Given the description of an element on the screen output the (x, y) to click on. 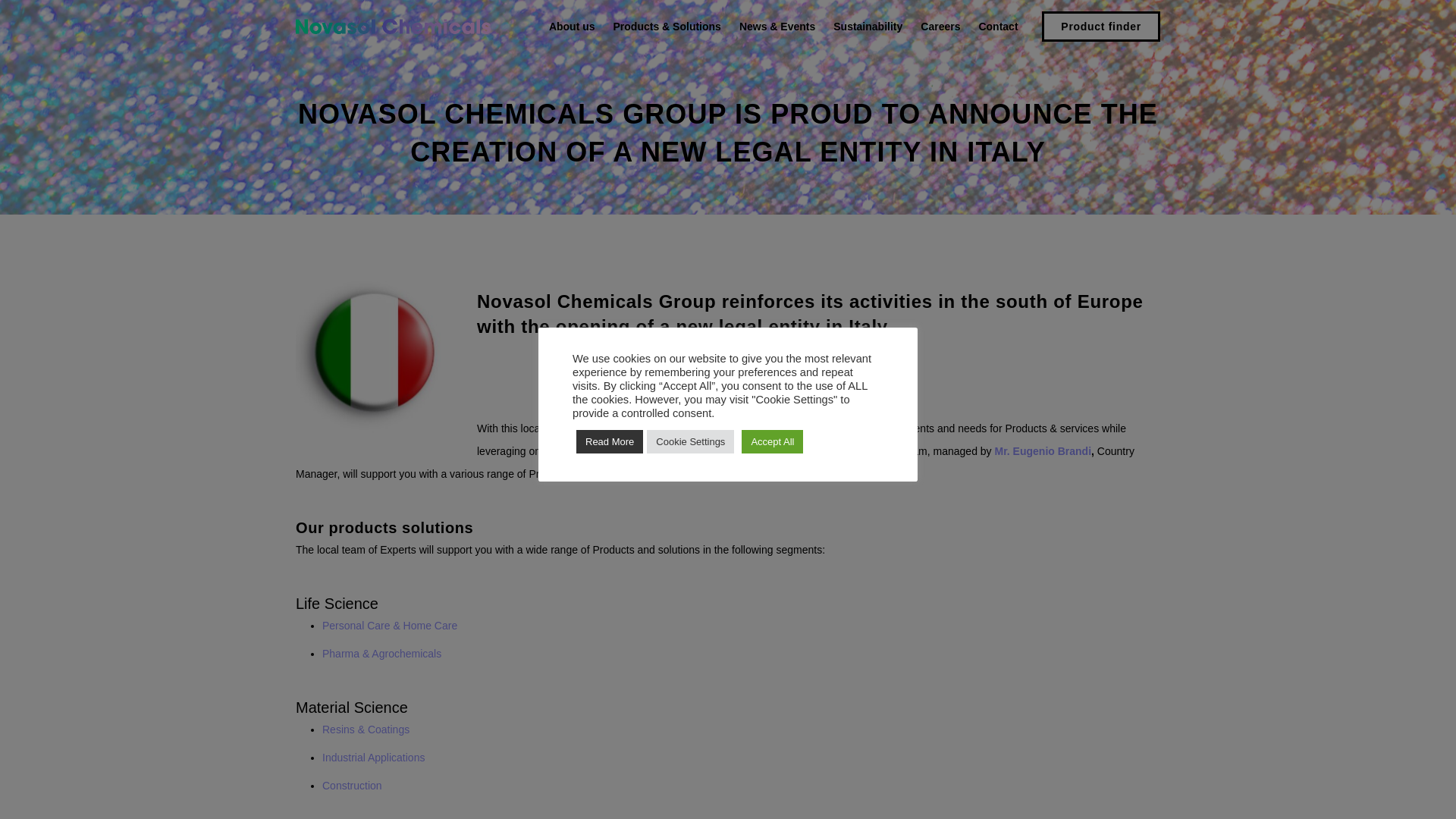
Industrial Applications (373, 757)
Mr. Eugenio Brandi (1043, 451)
Construction (351, 785)
About us (572, 26)
Product finder (1101, 25)
Read More (609, 440)
Sustainability (867, 26)
Cookie Settings (689, 440)
Careers (940, 26)
Accept All (772, 440)
